Given the description of an element on the screen output the (x, y) to click on. 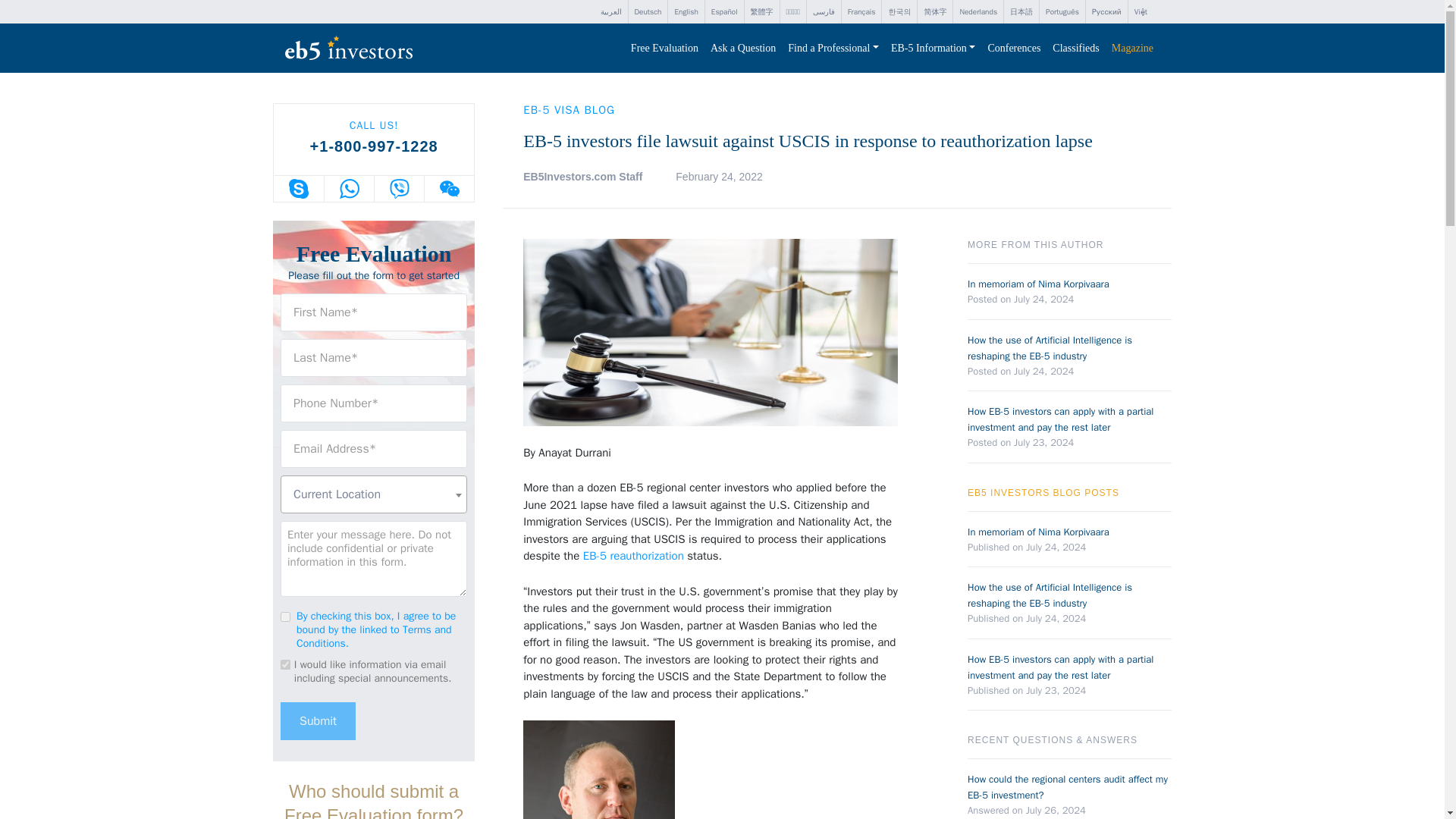
Ask a Question (742, 48)
EB-5 Information (933, 48)
Free Evaluation (664, 48)
Find a Professional (833, 48)
1 (285, 616)
Ask a Question (742, 48)
Find a Professional (833, 48)
Deutsch (646, 11)
Free Evaluation (664, 48)
Submit (318, 720)
English (685, 11)
Nederlands (978, 11)
